Given the description of an element on the screen output the (x, y) to click on. 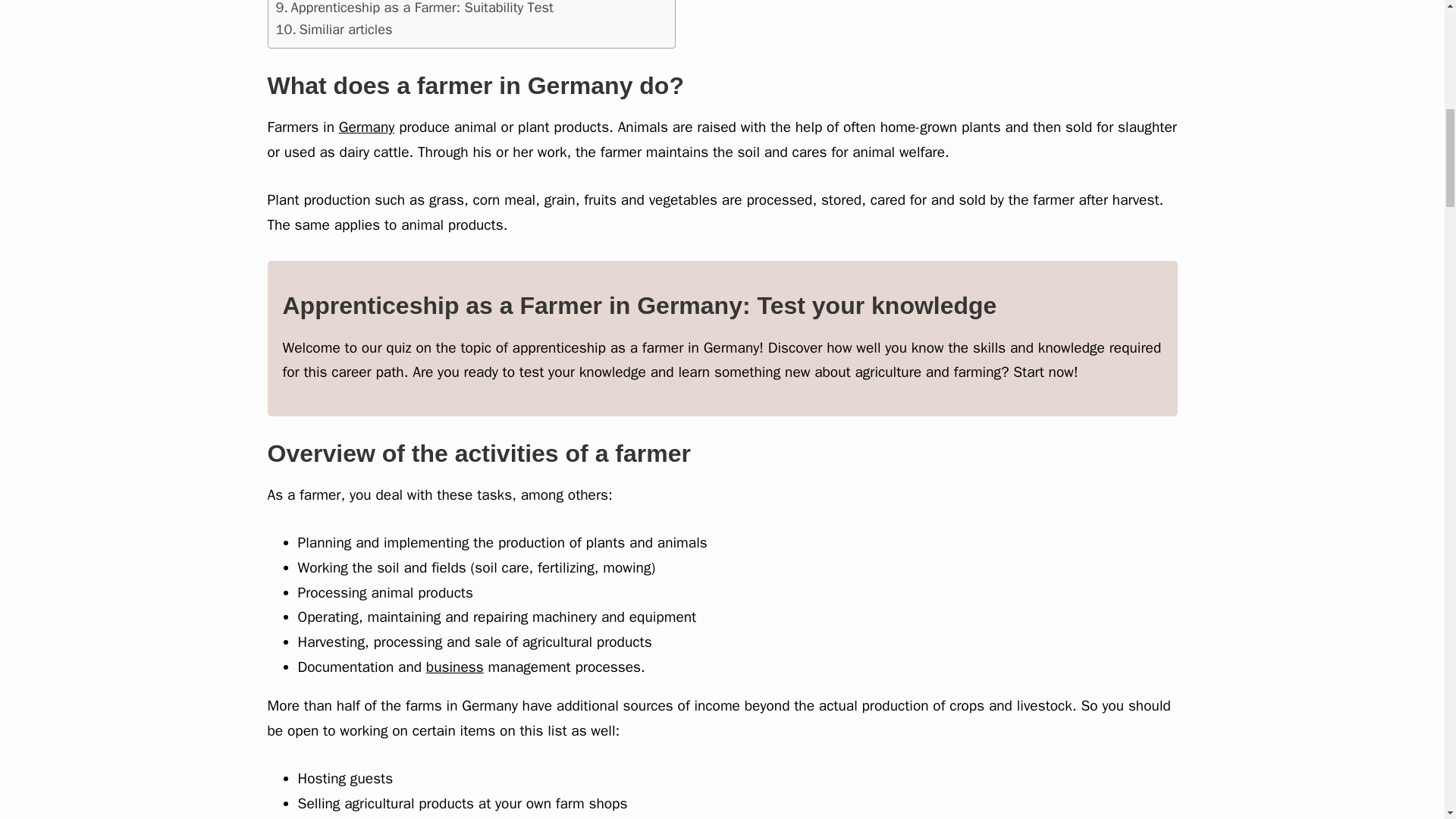
business (454, 667)
Apprenticeship as a Farmer: Suitability Test (414, 9)
Similiar articles (334, 29)
Similiar articles (334, 29)
Apprenticeship as a Farmer: Suitability Test (414, 9)
Germany (366, 126)
